Given the description of an element on the screen output the (x, y) to click on. 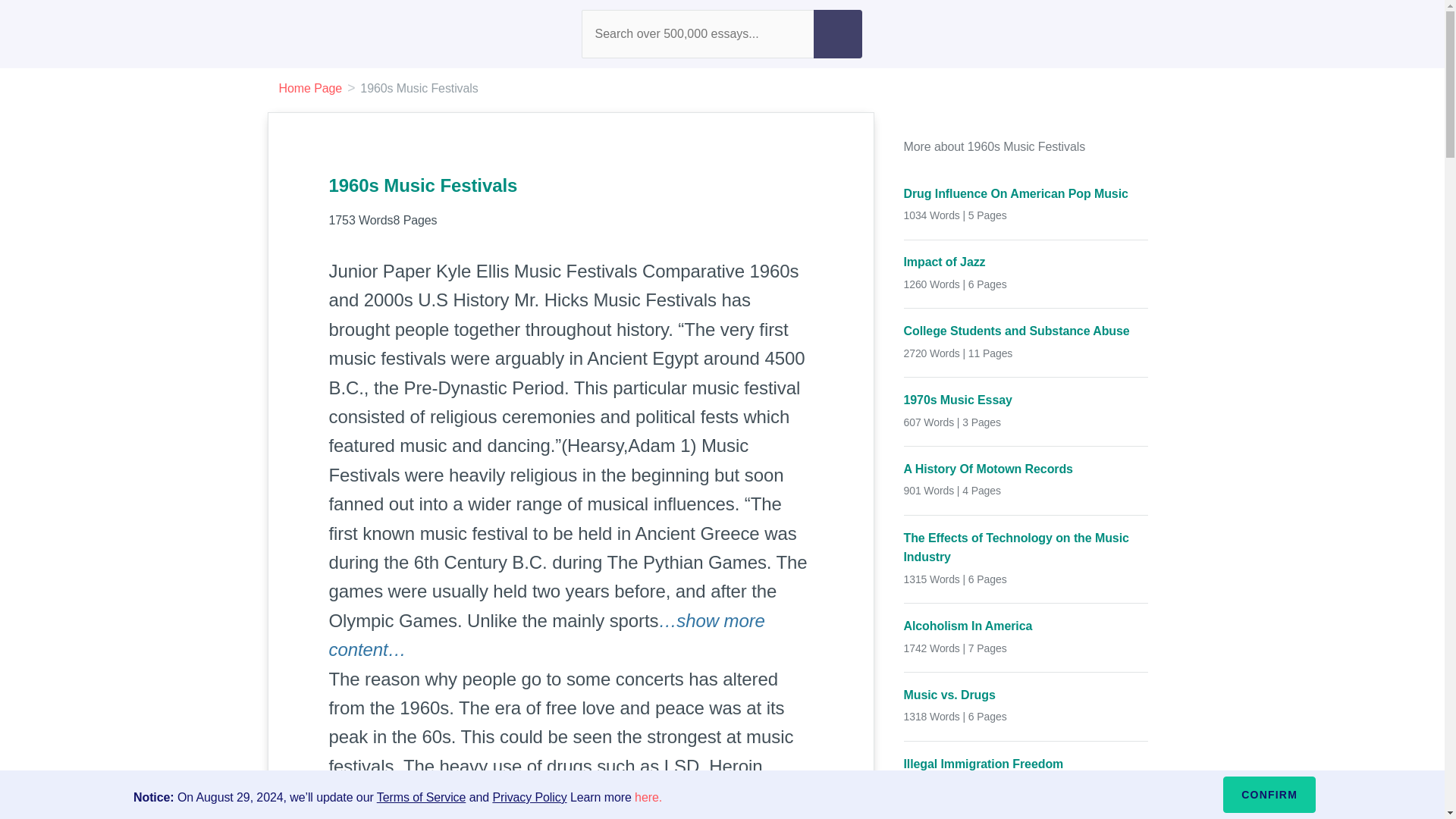
College Students and Substance Abuse (1026, 331)
The Effects of Technology on the Music Industry (1026, 547)
Drug Influence On American Pop Music (1026, 193)
Illegal Immigration Freedom (1026, 763)
A History Of Motown Records (1026, 469)
Home Page (310, 88)
Impact of Jazz (1026, 261)
Alcoholism In America (1026, 626)
1970s Music Essay (1026, 400)
Music vs. Drugs (1026, 695)
